Given the description of an element on the screen output the (x, y) to click on. 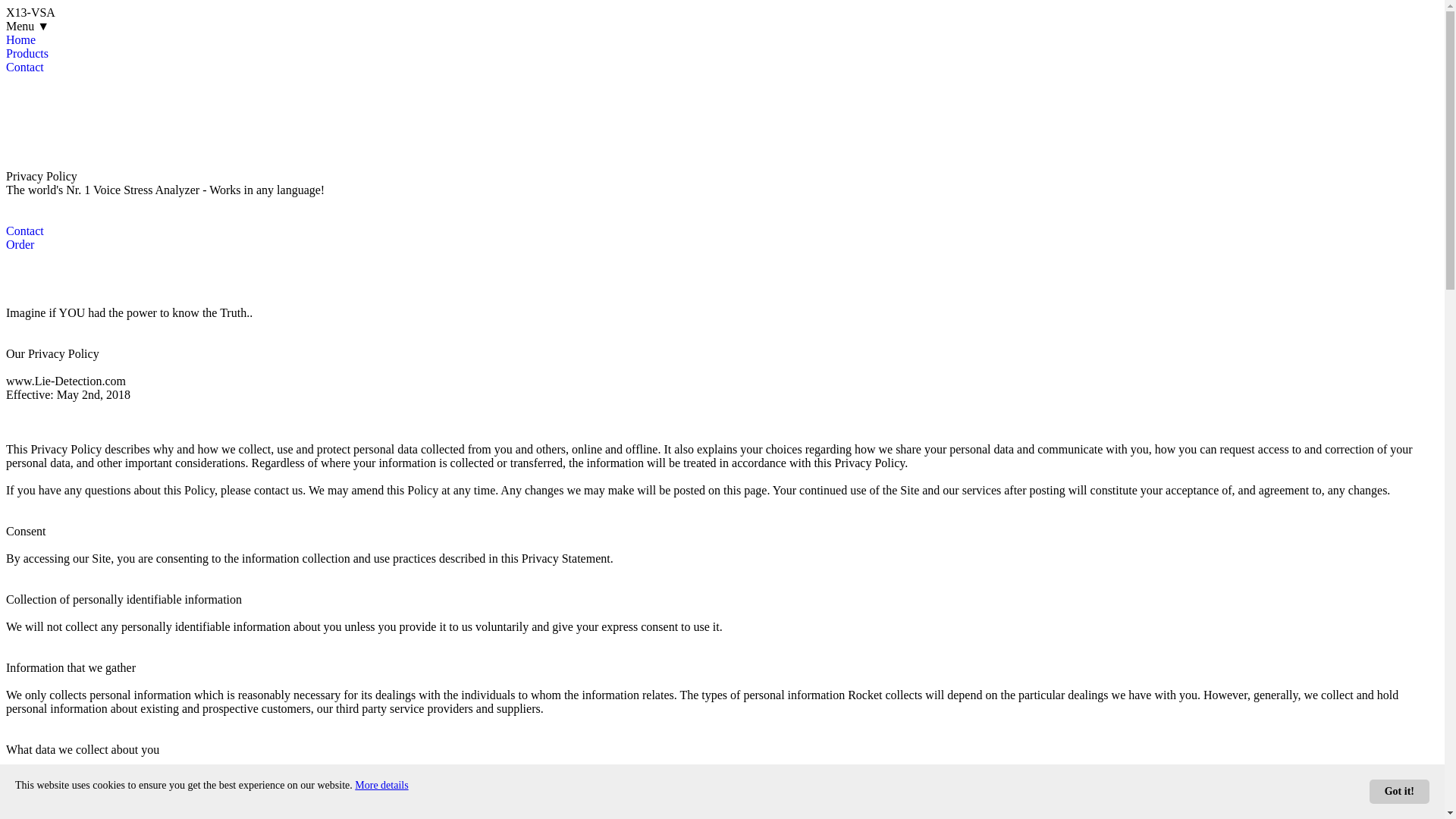
More details (381, 785)
Got it! (1399, 791)
